Given the description of an element on the screen output the (x, y) to click on. 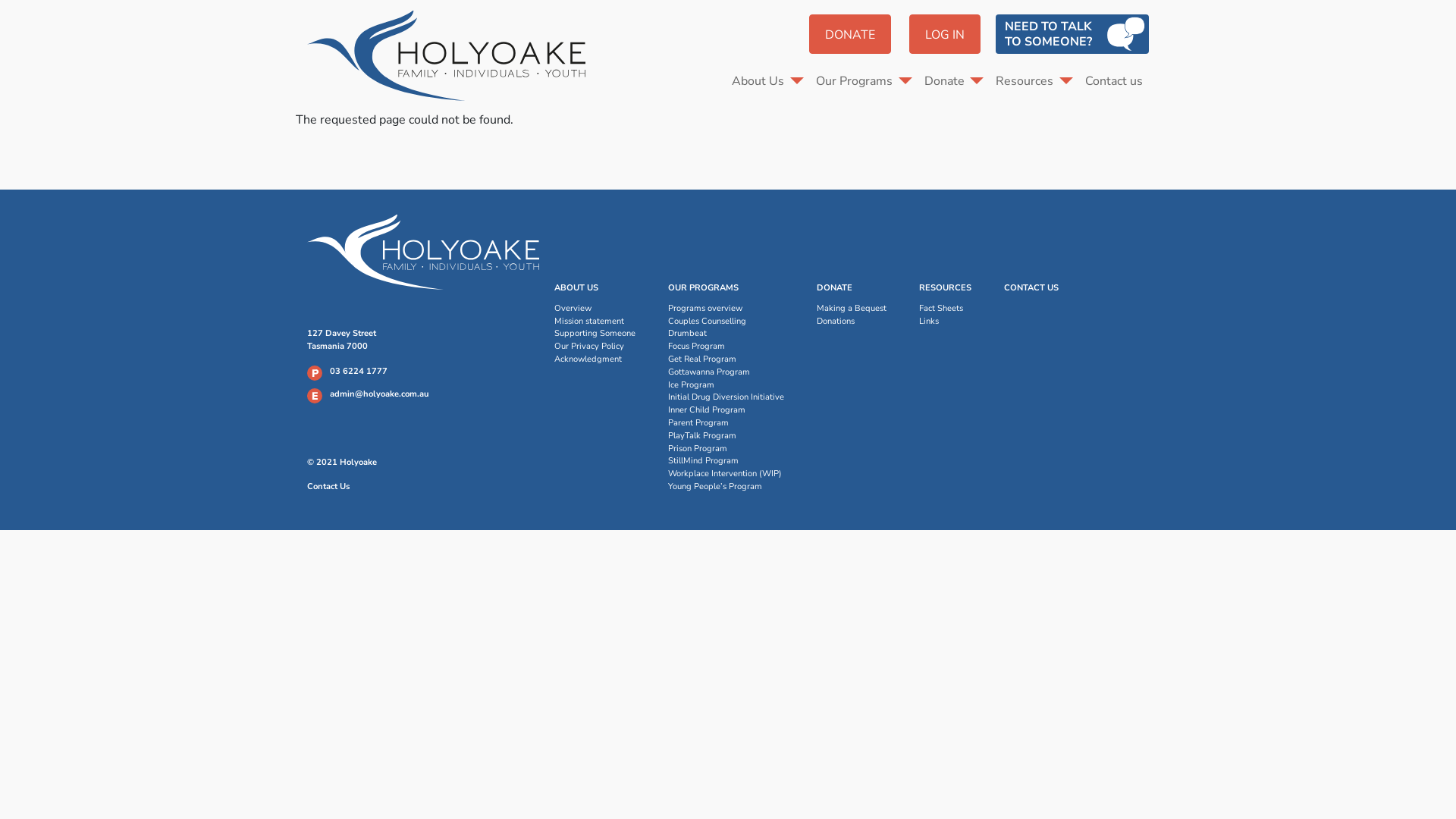
Home Element type: hover (452, 54)
Parent Program Element type: text (726, 423)
StillMind Program Element type: text (726, 461)
Our Privacy Policy Element type: text (594, 346)
Contact Us Element type: text (328, 486)
LOG IN Element type: text (944, 33)
Programs overview Element type: text (726, 308)
Acknowledgment Element type: text (594, 359)
admin@holyoake.com.au Element type: text (378, 393)
Workplace Intervention (WIP) Element type: text (726, 473)
Overview Element type: text (594, 308)
Couples Counselling Element type: text (726, 321)
Prison Program Element type: text (726, 448)
Skip to main content Element type: text (0, 0)
OUR PROGRAMS Element type: text (703, 288)
CONTACT US Element type: text (1031, 288)
Making a Bequest Element type: text (851, 308)
Inner Child Program Element type: text (726, 410)
Contact us Element type: text (1113, 80)
NEED TO TALK
TO SOMEONE? Element type: text (1071, 33)
03 6224 1777 Element type: text (358, 370)
Links Element type: text (945, 321)
Our Programs Element type: text (863, 80)
Gottawanna Program Element type: text (726, 372)
DONATE Element type: text (850, 33)
Mission statement Element type: text (594, 321)
Focus Program Element type: text (726, 346)
Fact Sheets Element type: text (945, 308)
Initial Drug Diversion Initiative Element type: text (726, 397)
Donations Element type: text (851, 321)
Ice Program Element type: text (726, 385)
Supporting Someone Element type: text (594, 333)
Drumbeat Element type: text (726, 333)
PlayTalk Program Element type: text (726, 435)
Get Real Program Element type: text (726, 359)
